Given the description of an element on the screen output the (x, y) to click on. 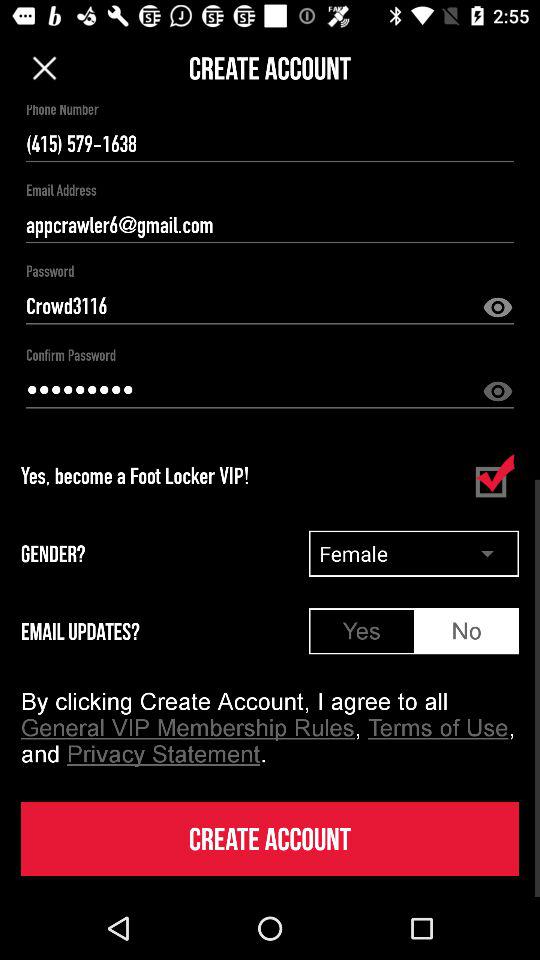
hidden option (498, 308)
